Given the description of an element on the screen output the (x, y) to click on. 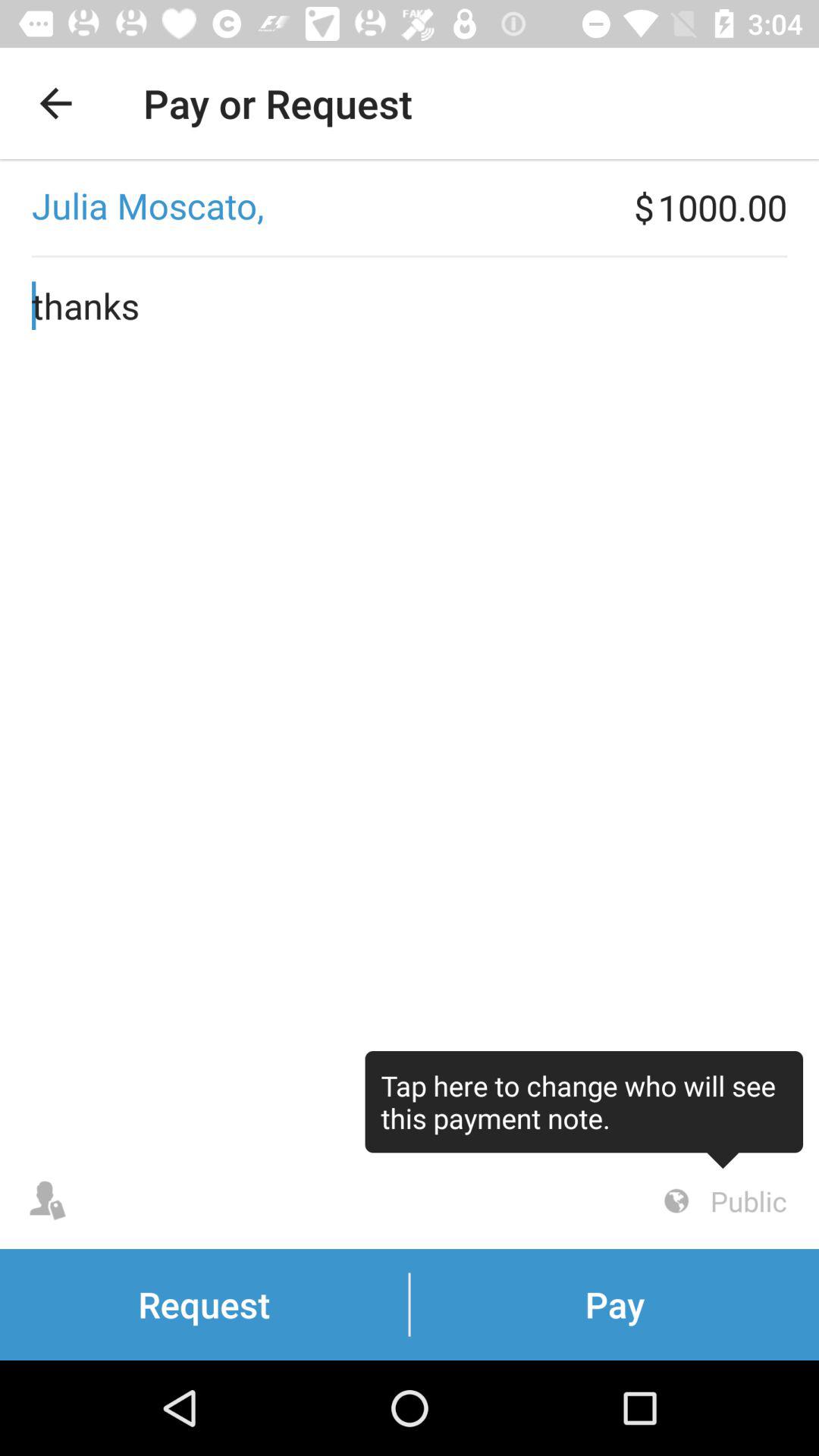
choose item above ,  item (55, 103)
